Given the description of an element on the screen output the (x, y) to click on. 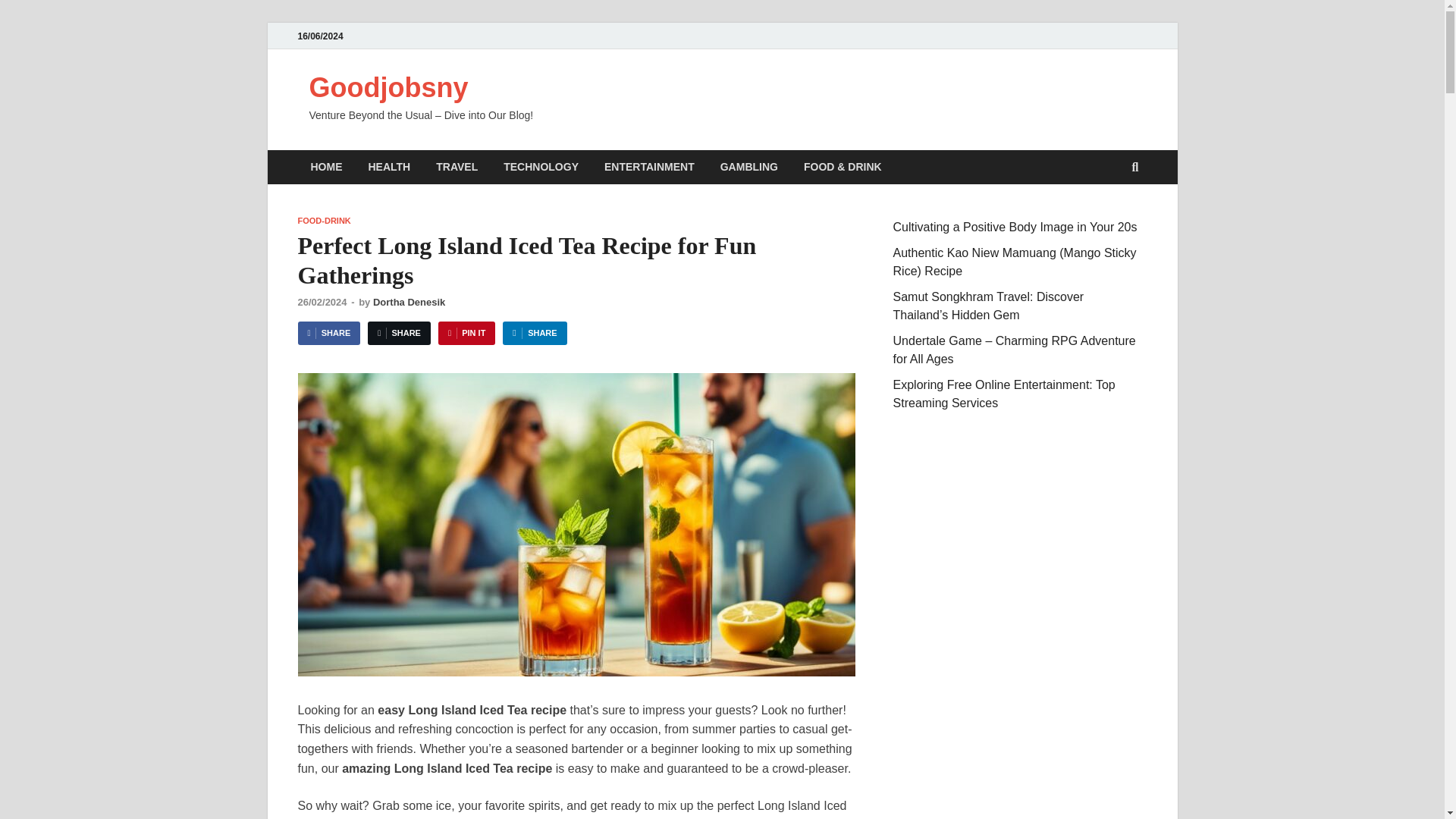
Cultivating a Positive Body Image in Your 20s (1015, 226)
SHARE (328, 332)
SHARE (534, 332)
PIN IT (466, 332)
ENTERTAINMENT (649, 166)
TRAVEL (456, 166)
TECHNOLOGY (540, 166)
HOME (326, 166)
Goodjobsny (388, 87)
FOOD-DRINK (323, 220)
HEALTH (389, 166)
SHARE (399, 332)
Exploring Free Online Entertainment: Top Streaming Services (1004, 393)
Dortha Denesik (408, 301)
GAMBLING (748, 166)
